Given the description of an element on the screen output the (x, y) to click on. 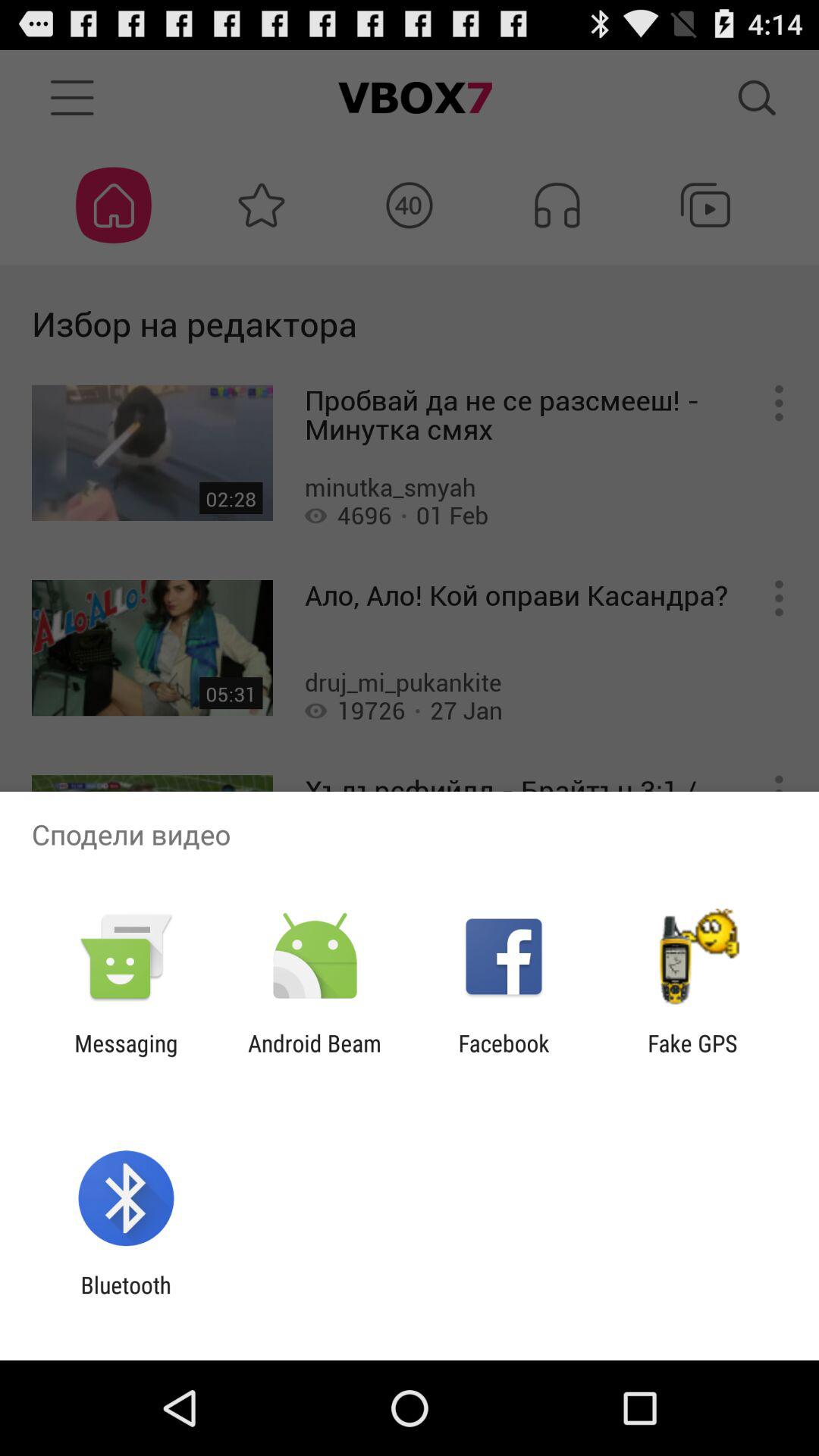
turn off messaging icon (126, 1056)
